Given the description of an element on the screen output the (x, y) to click on. 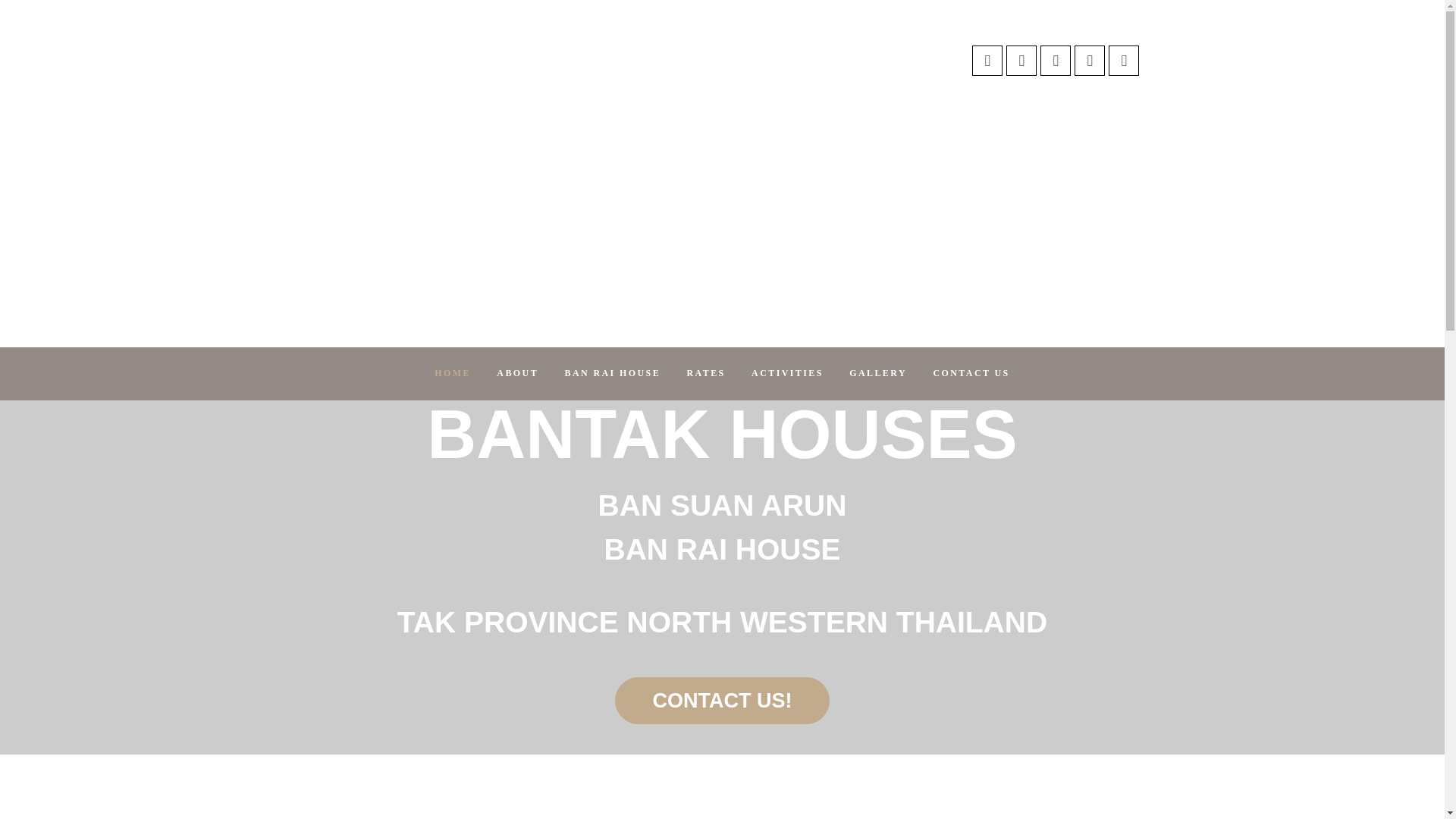
HOME (452, 373)
GALLERY (878, 373)
RATES (705, 373)
ABOUT (517, 373)
CONTACT US! (721, 700)
ACTIVITIES (786, 373)
BAN RAI HOUSE (612, 373)
CONTACT US (970, 373)
